Given the description of an element on the screen output the (x, y) to click on. 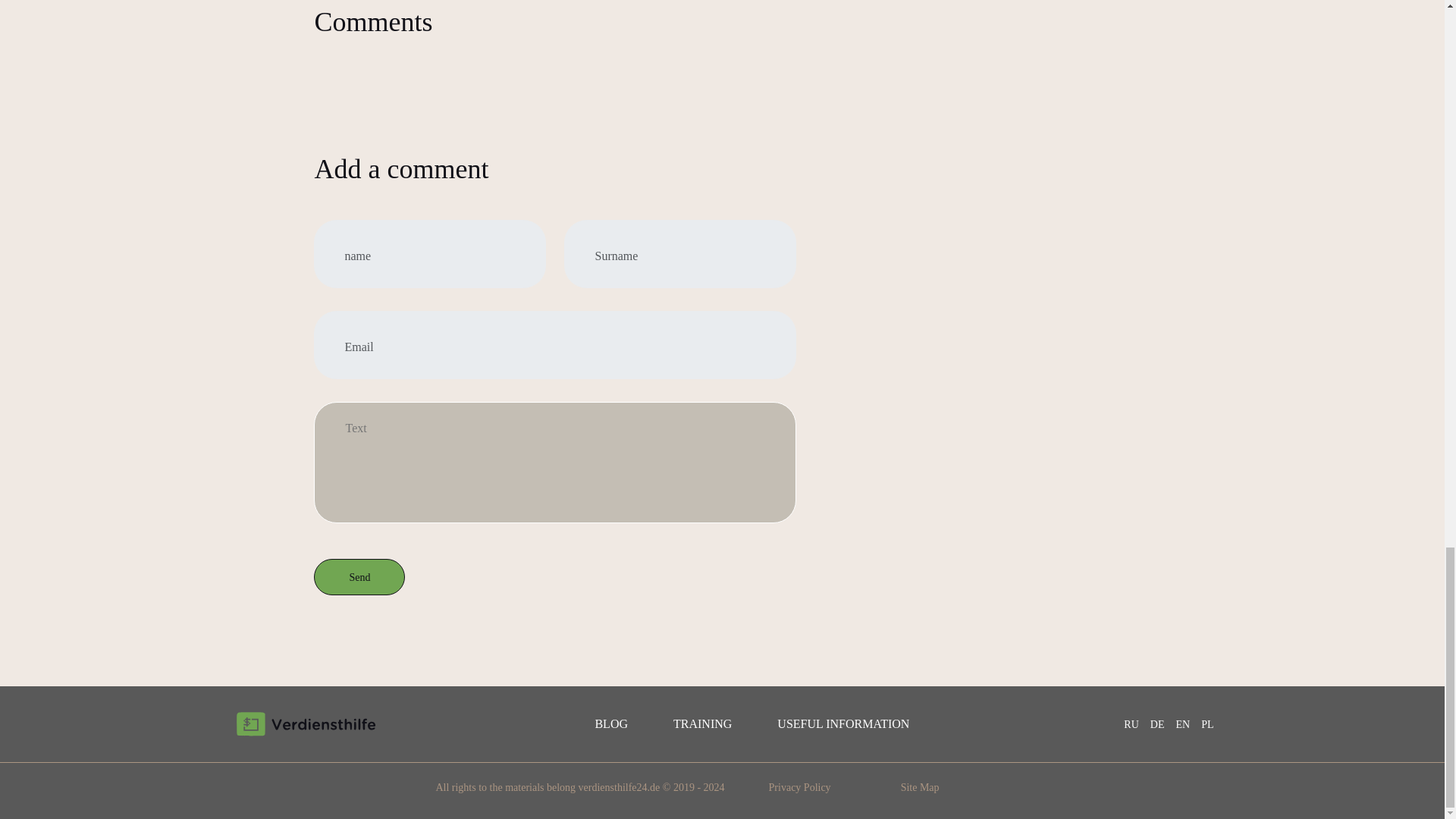
Privacy Policy (799, 787)
DE (1157, 724)
RU (1131, 724)
Send (359, 576)
PL (1206, 724)
USEFUL INFORMATION (842, 723)
BLOG (610, 723)
EN (1181, 724)
Send (359, 576)
Site Map (920, 787)
TRAINING (702, 723)
